Given the description of an element on the screen output the (x, y) to click on. 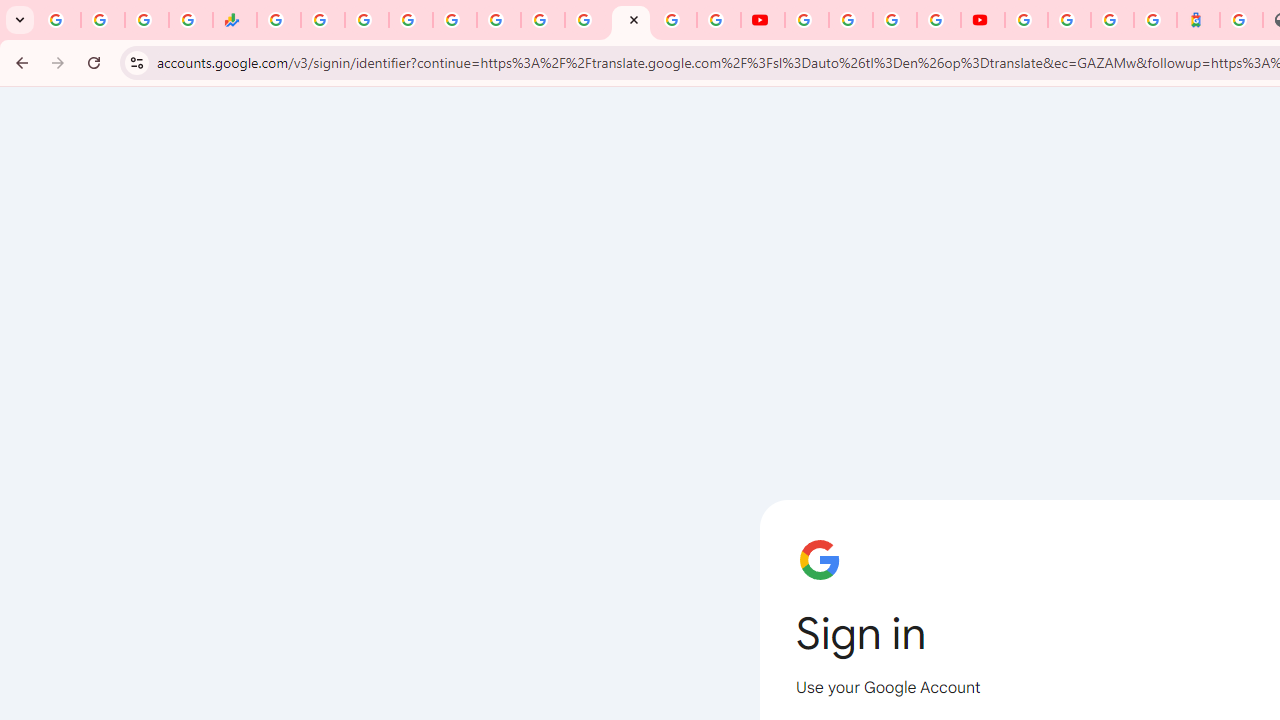
Privacy Checkup (719, 20)
YouTube (806, 20)
Google Account Help (850, 20)
YouTube (762, 20)
Sign in - Google Accounts (1026, 20)
YouTube (586, 20)
Sign in - Google Accounts (410, 20)
